Given the description of an element on the screen output the (x, y) to click on. 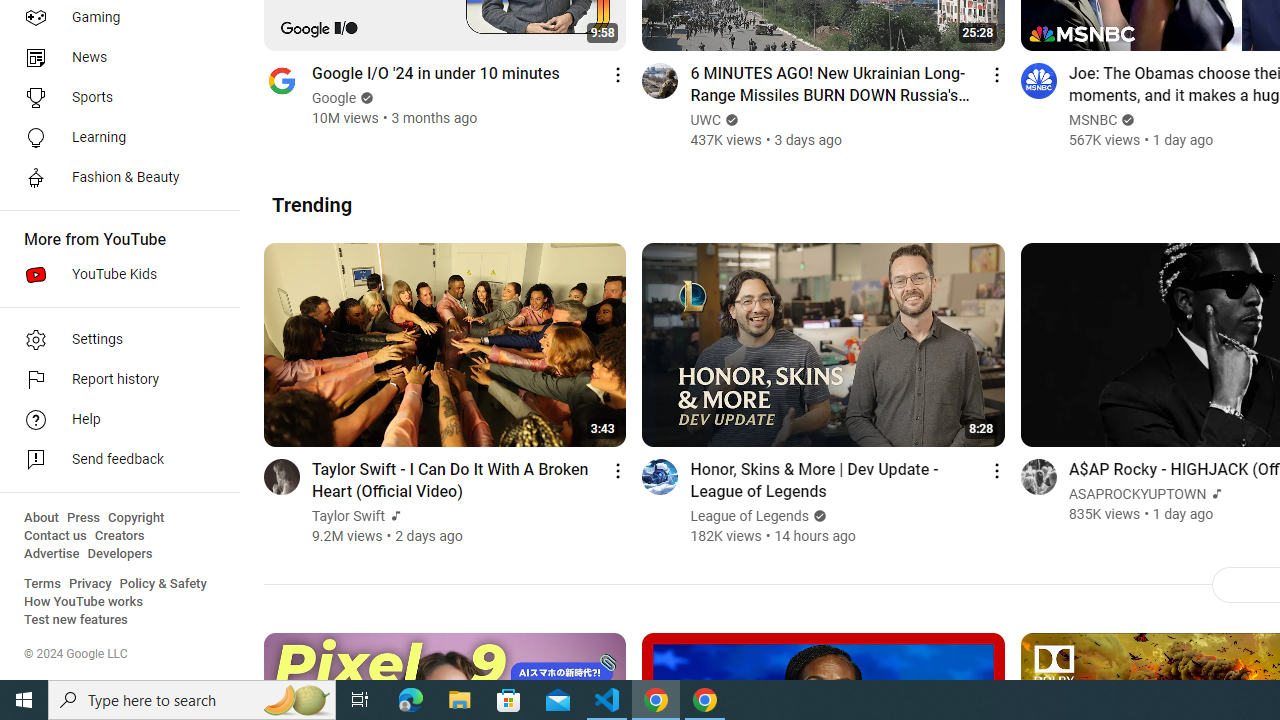
Action menu (996, 470)
Learning (113, 137)
News (113, 57)
Verified (816, 516)
YouTube Kids (113, 274)
Creators (118, 536)
Developers (120, 554)
Advertise (51, 554)
Test new features (76, 620)
Send feedback (113, 459)
Official Artist Channel (1214, 493)
About (41, 518)
Fashion & Beauty (113, 177)
Copyright (136, 518)
